Given the description of an element on the screen output the (x, y) to click on. 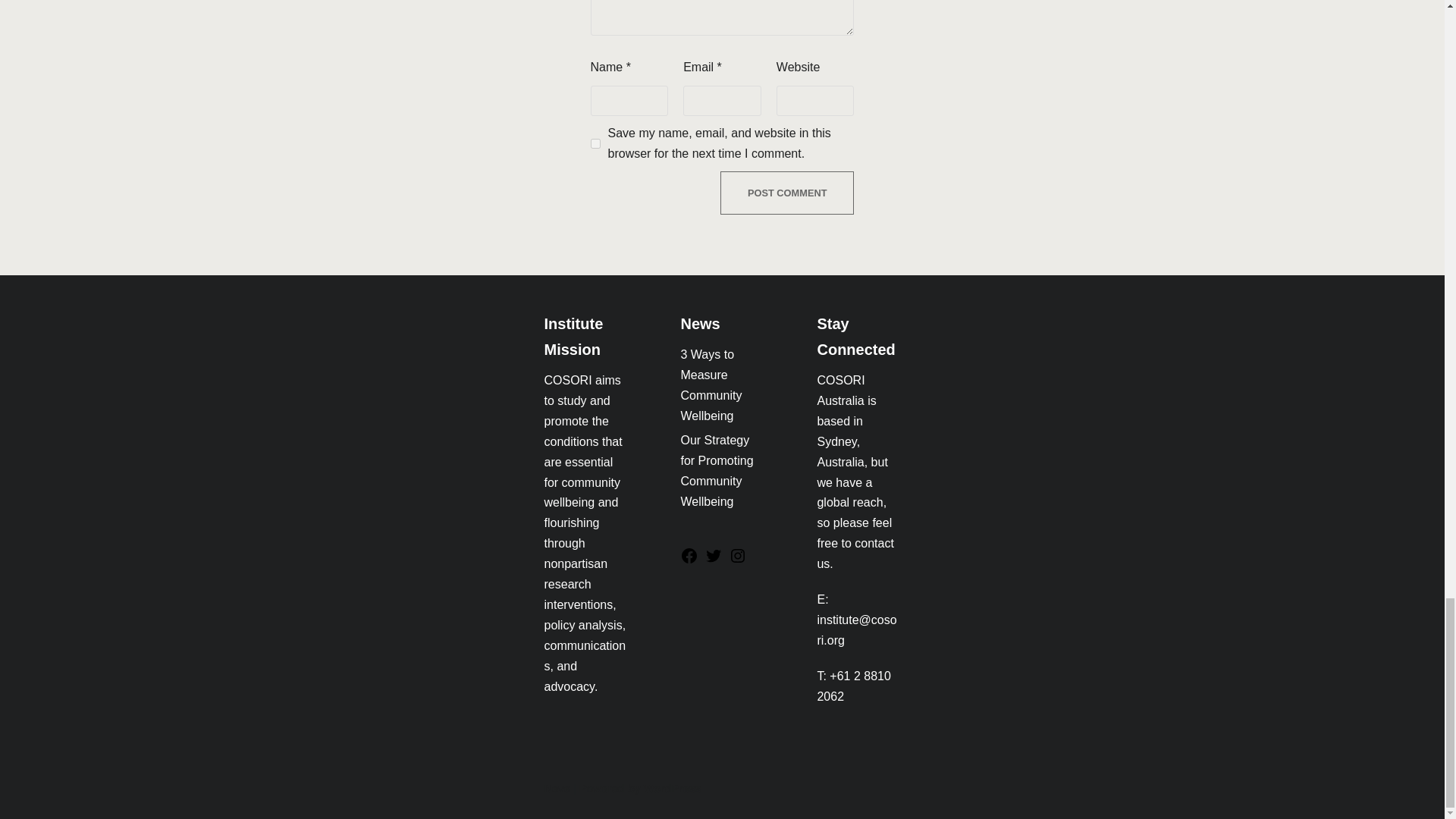
Post Comment (787, 192)
WordPress (672, 788)
yes (594, 143)
Post Comment (787, 192)
Neve (557, 788)
Our Strategy for Promoting Community Wellbeing (715, 470)
